Given the description of an element on the screen output the (x, y) to click on. 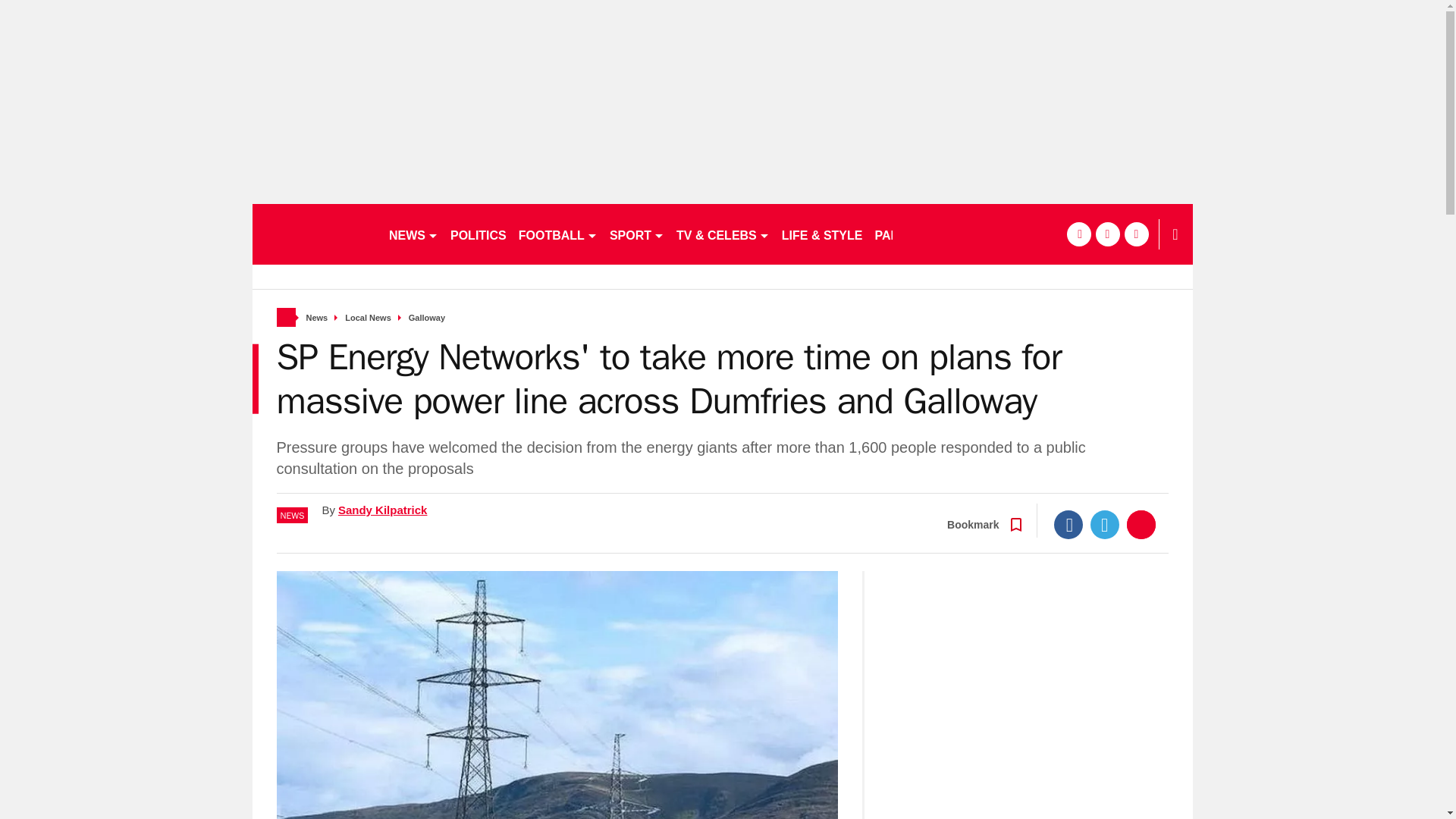
facebook (1077, 233)
instagram (1136, 233)
NEWS (413, 233)
FOOTBALL (558, 233)
SPORT (636, 233)
POLITICS (478, 233)
dailyrecord (313, 233)
twitter (1106, 233)
Facebook (1068, 524)
Twitter (1104, 524)
